Given the description of an element on the screen output the (x, y) to click on. 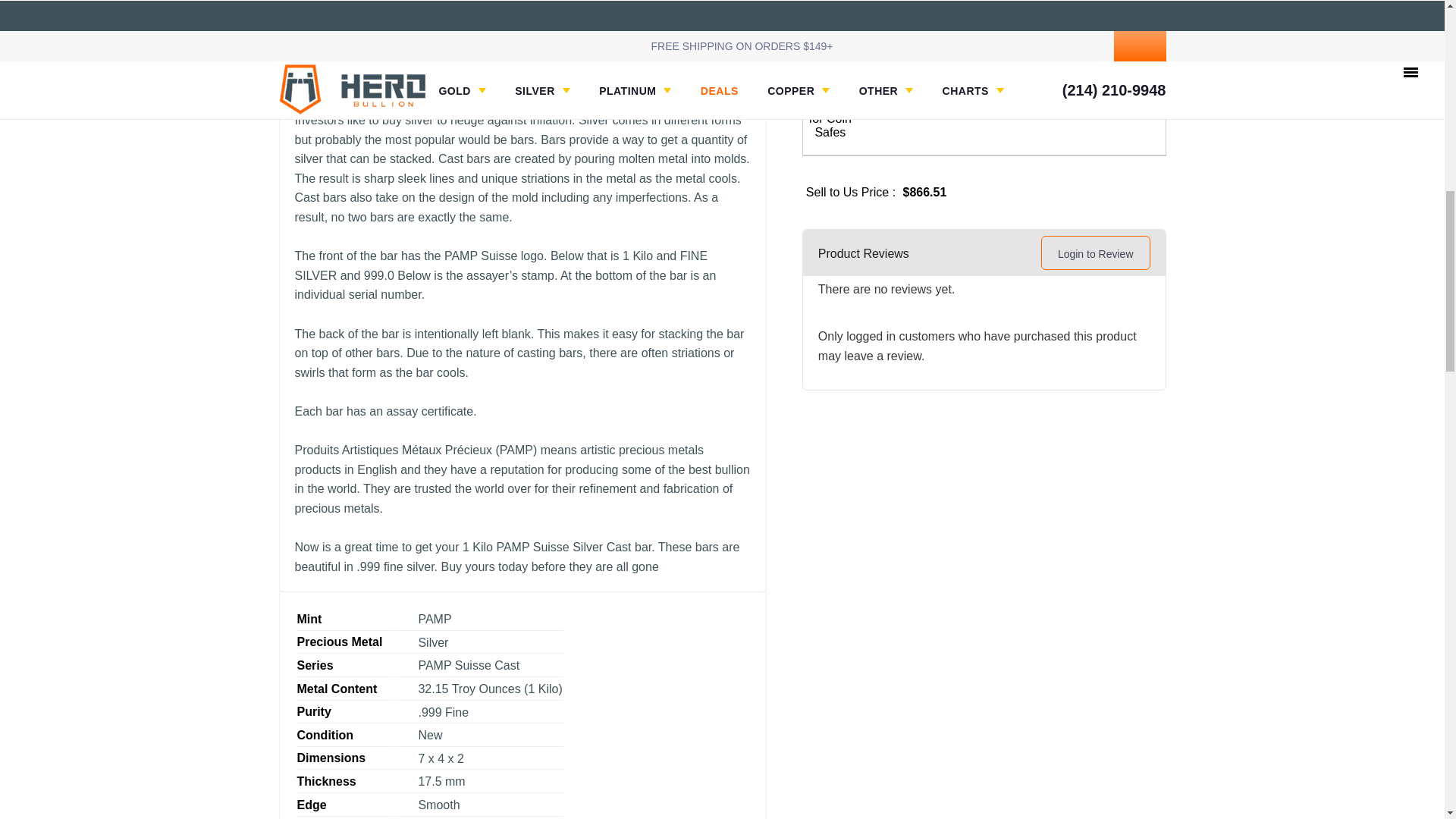
Minus Quantity (1082, 98)
1 (1055, 89)
Plus Quantity (1082, 83)
